Given the description of an element on the screen output the (x, y) to click on. 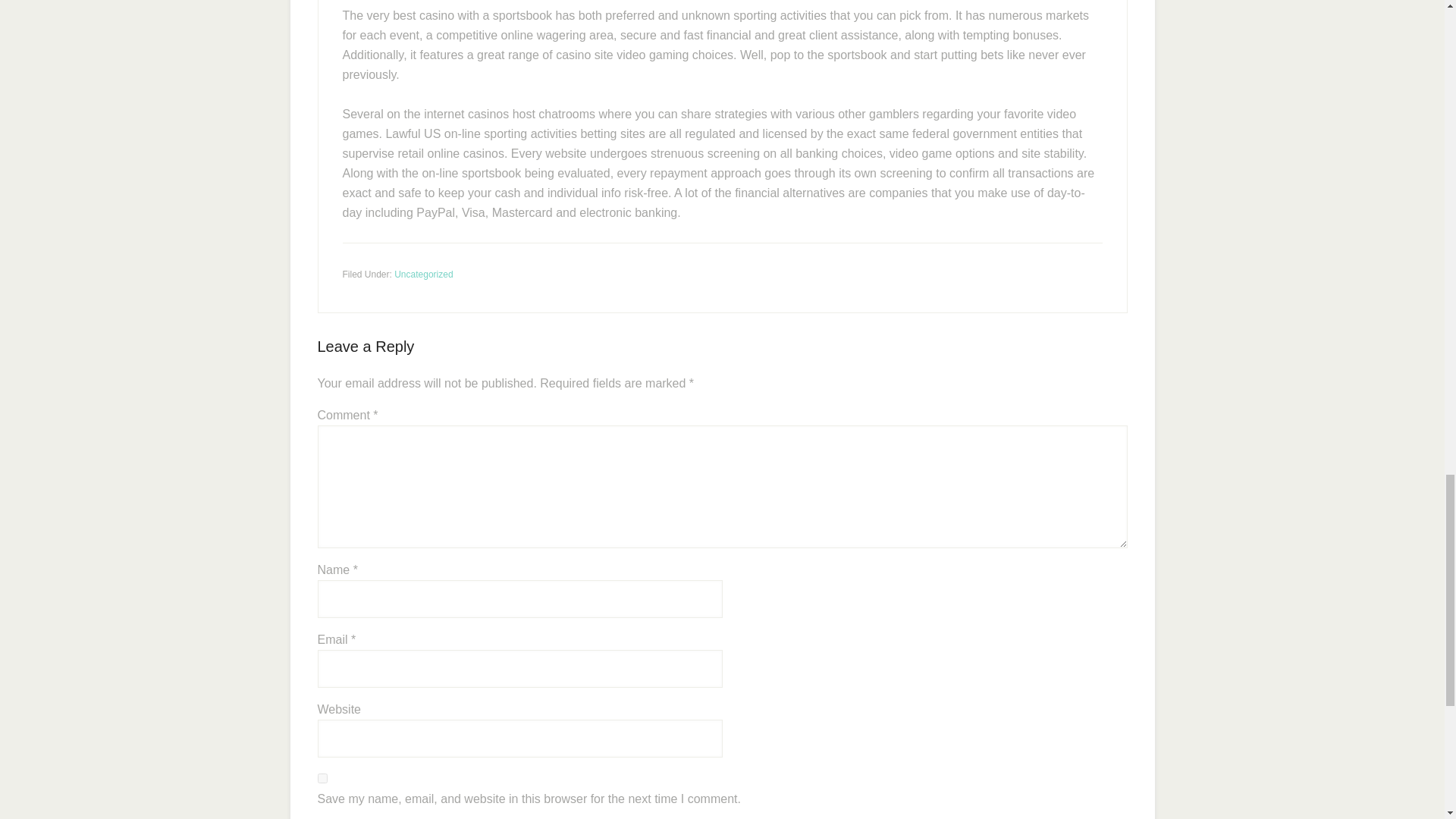
yes (321, 777)
Uncategorized (423, 274)
